Given the description of an element on the screen output the (x, y) to click on. 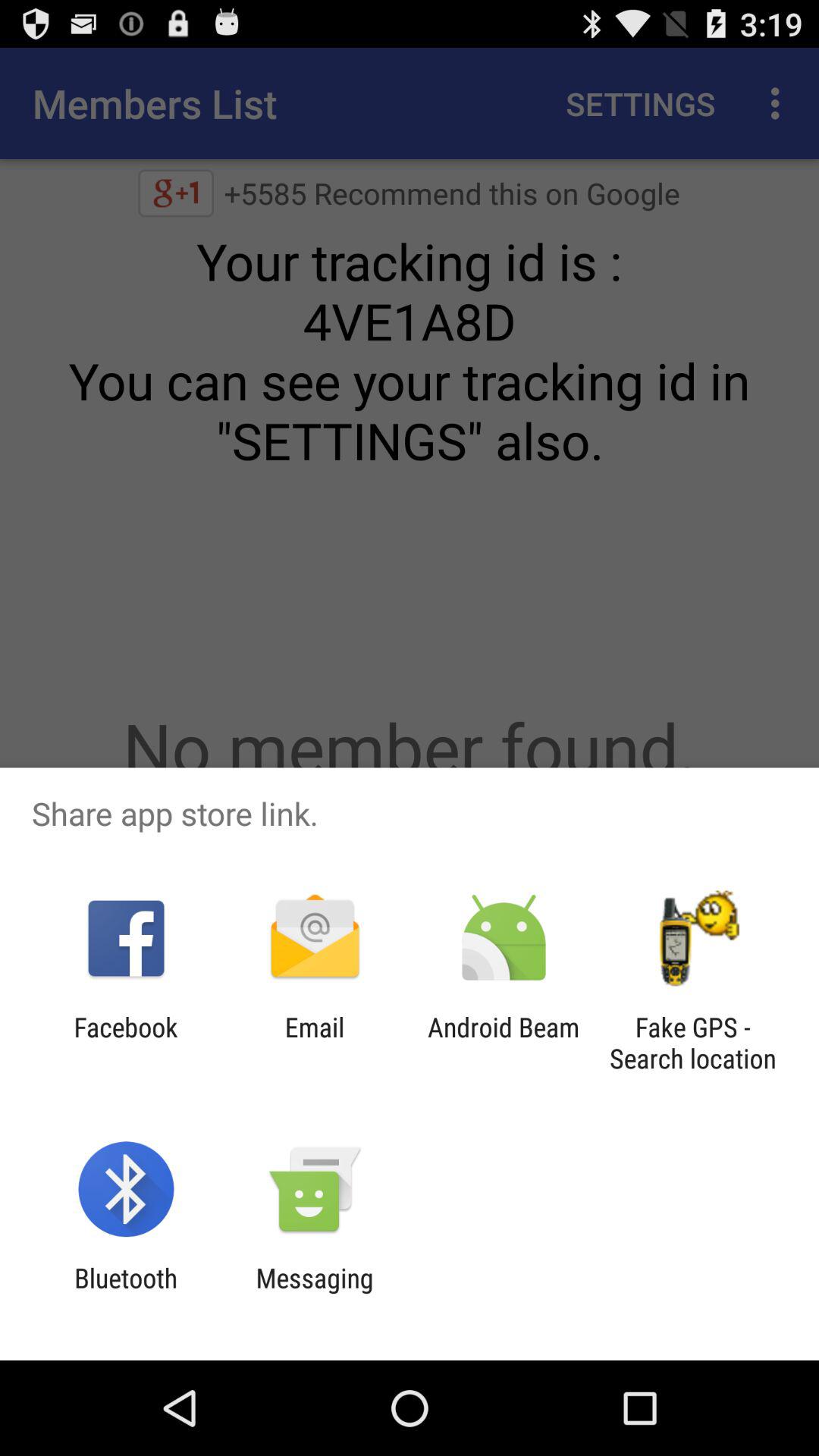
press item next to the messaging (125, 1293)
